Given the description of an element on the screen output the (x, y) to click on. 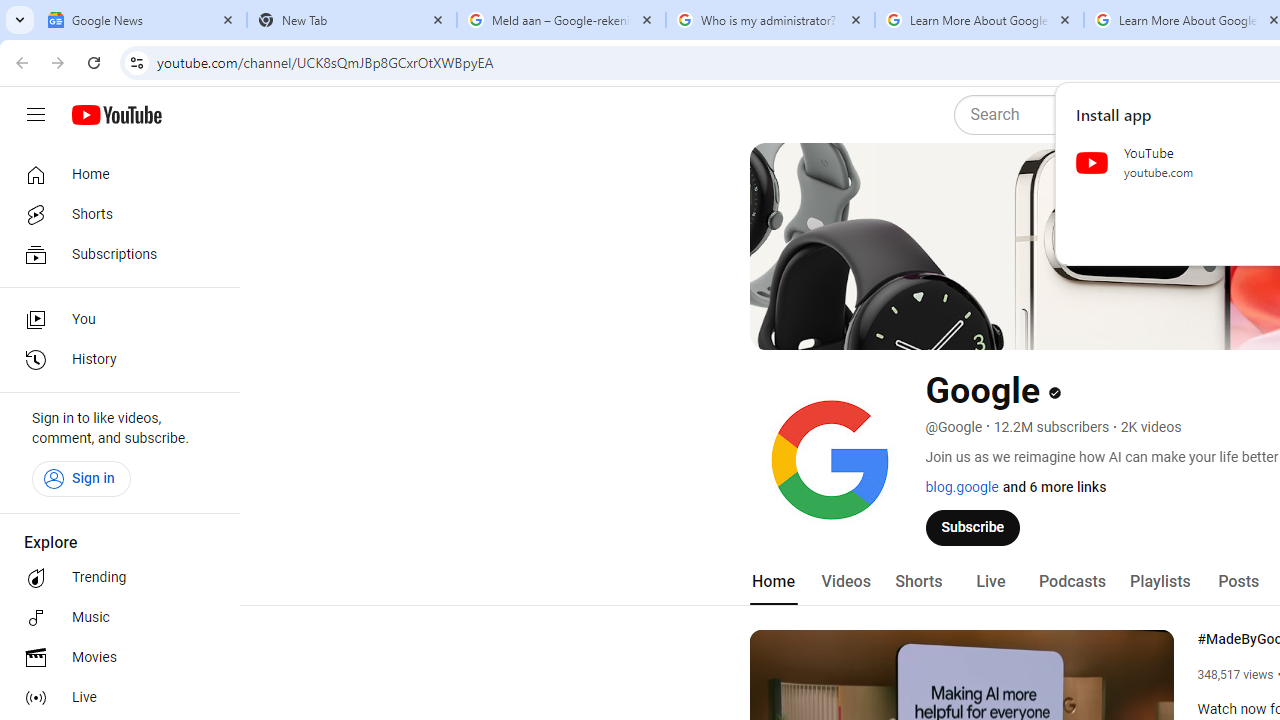
Live (990, 581)
Subscribe (973, 527)
Videos (845, 581)
New Tab (351, 20)
Playlists (1160, 581)
YouTube Home (116, 115)
Subscriptions (113, 254)
Shorts (113, 214)
Podcasts (1072, 581)
